Given the description of an element on the screen output the (x, y) to click on. 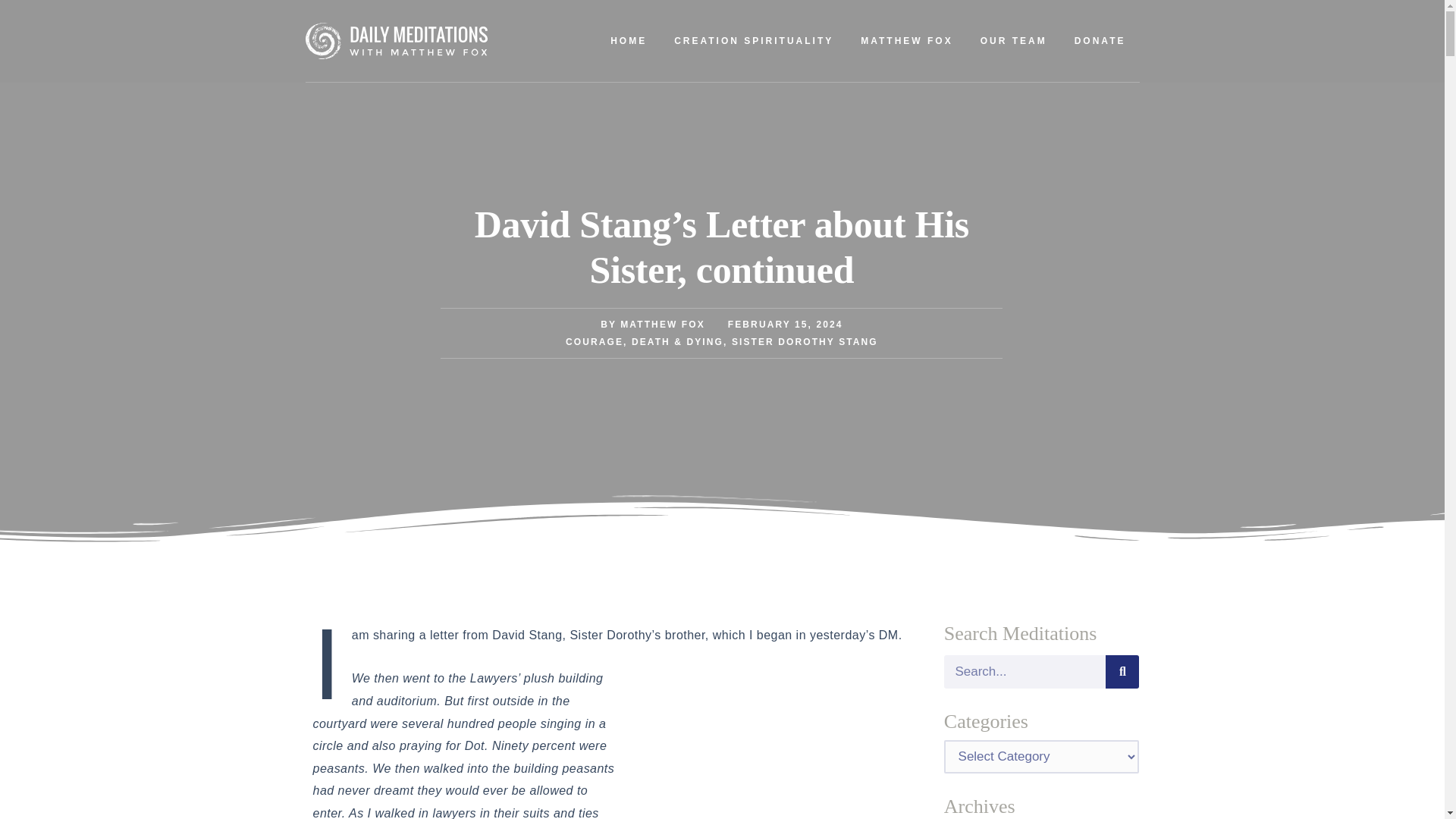
HOME (628, 40)
CREATION SPIRITUALITY (754, 40)
Death in the Amazon (777, 747)
OUR TEAM (1013, 40)
DONATE (1100, 40)
SISTER DOROTHY STANG (804, 341)
COURAGE (594, 341)
FEBRUARY 15, 2024 (785, 324)
MATTHEW FOX (906, 40)
BY MATTHEW FOX (651, 324)
